Given the description of an element on the screen output the (x, y) to click on. 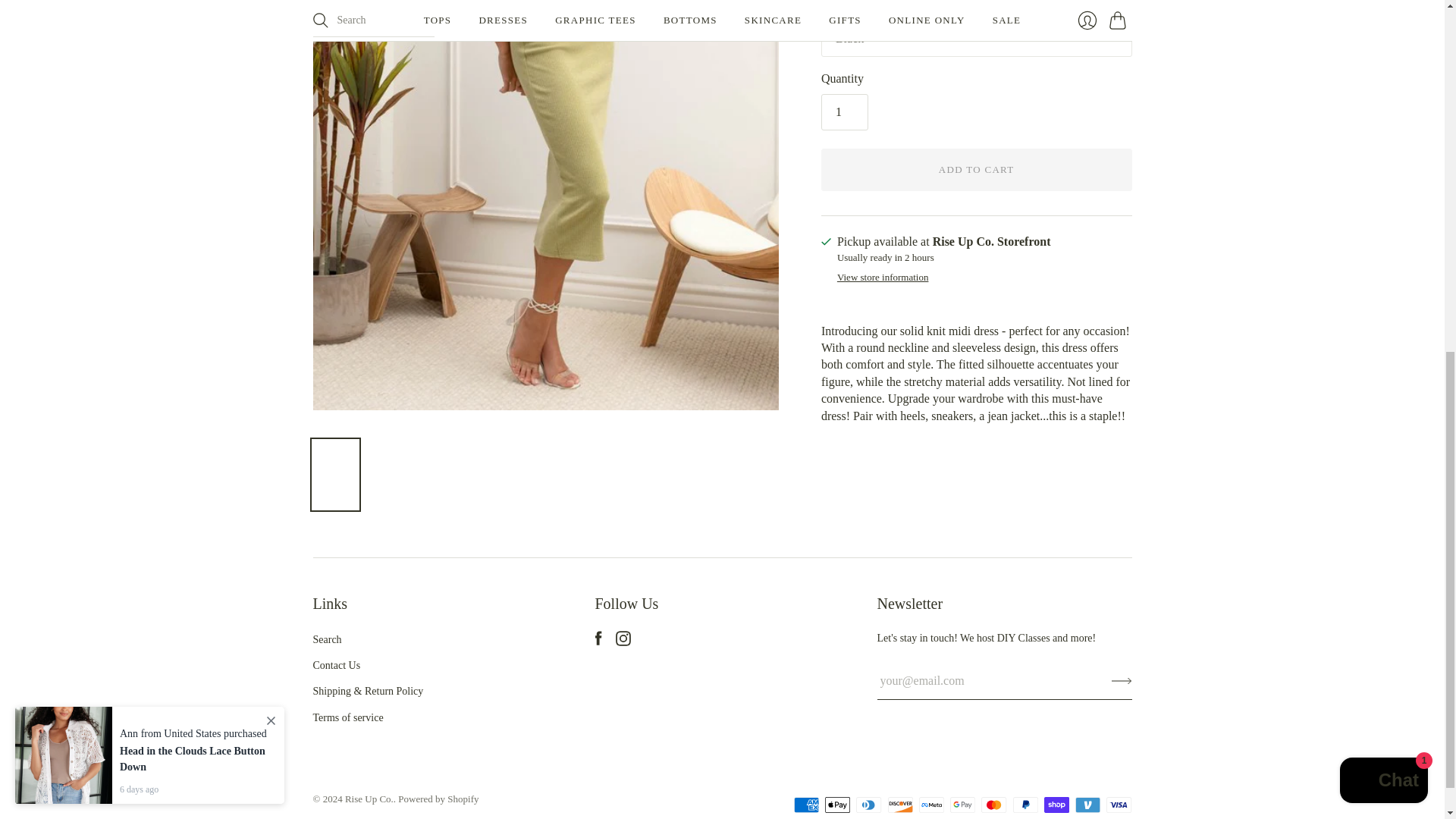
View store information (882, 277)
Terms of service (347, 717)
1 (844, 112)
Contact Us (336, 665)
ADD TO CART (976, 169)
Search (326, 639)
Shopify online store chat (1383, 142)
